Given the description of an element on the screen output the (x, y) to click on. 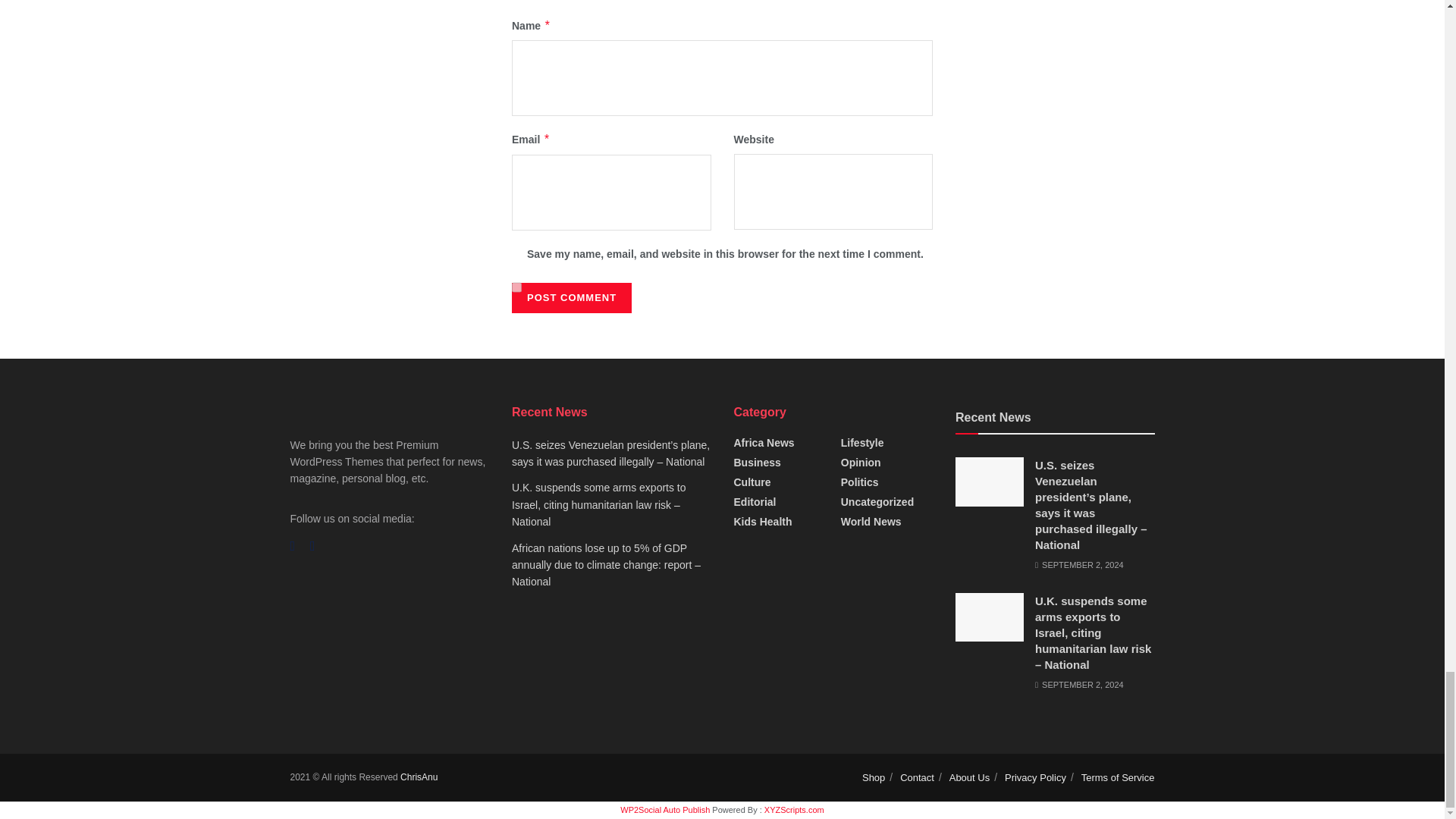
WP2Social Auto Publish (665, 809)
News (419, 777)
Post Comment (571, 297)
